Given the description of an element on the screen output the (x, y) to click on. 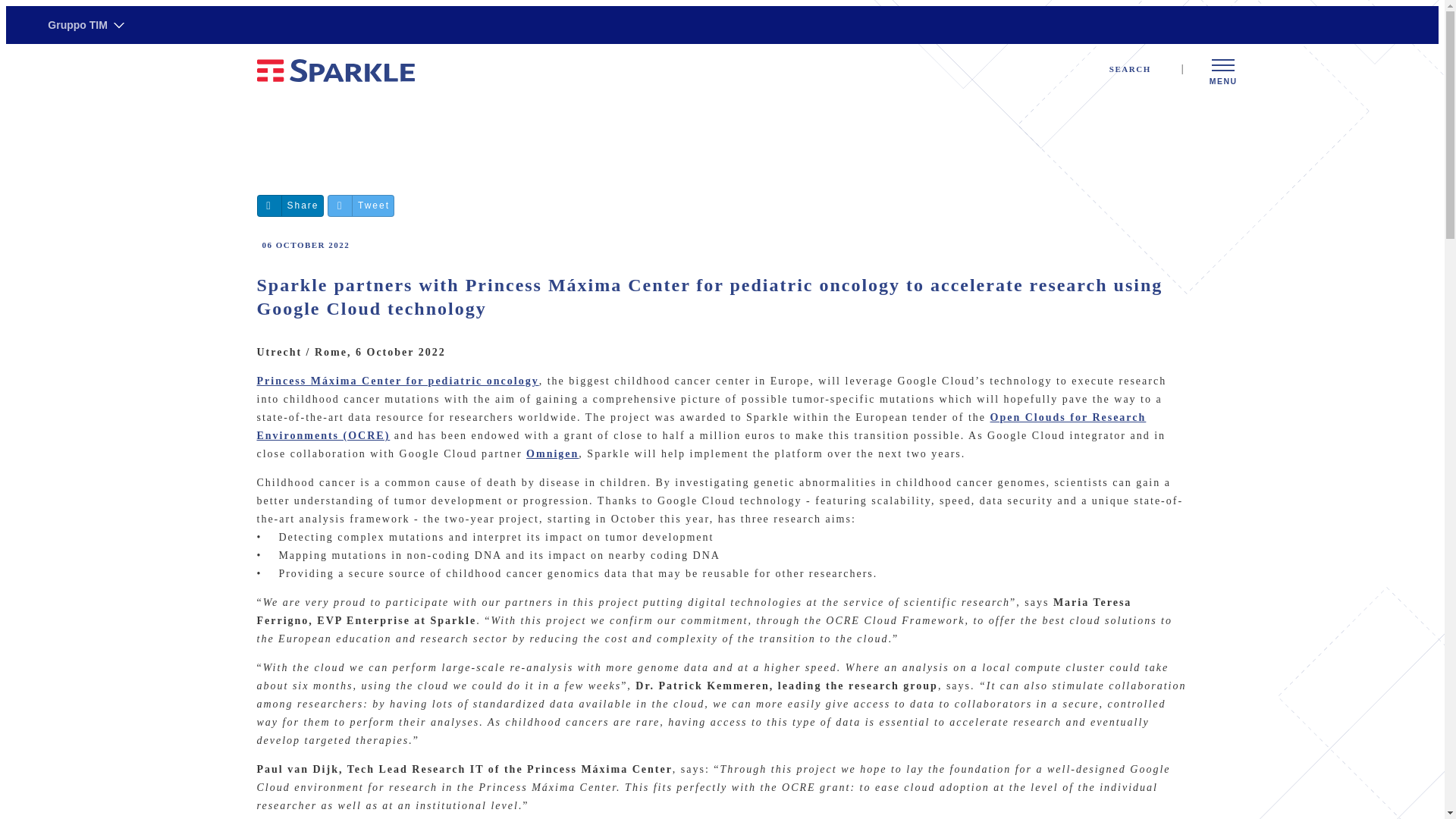
MENU (1223, 70)
Gruppo TIM (85, 25)
SEARCH (1139, 68)
